Given the description of an element on the screen output the (x, y) to click on. 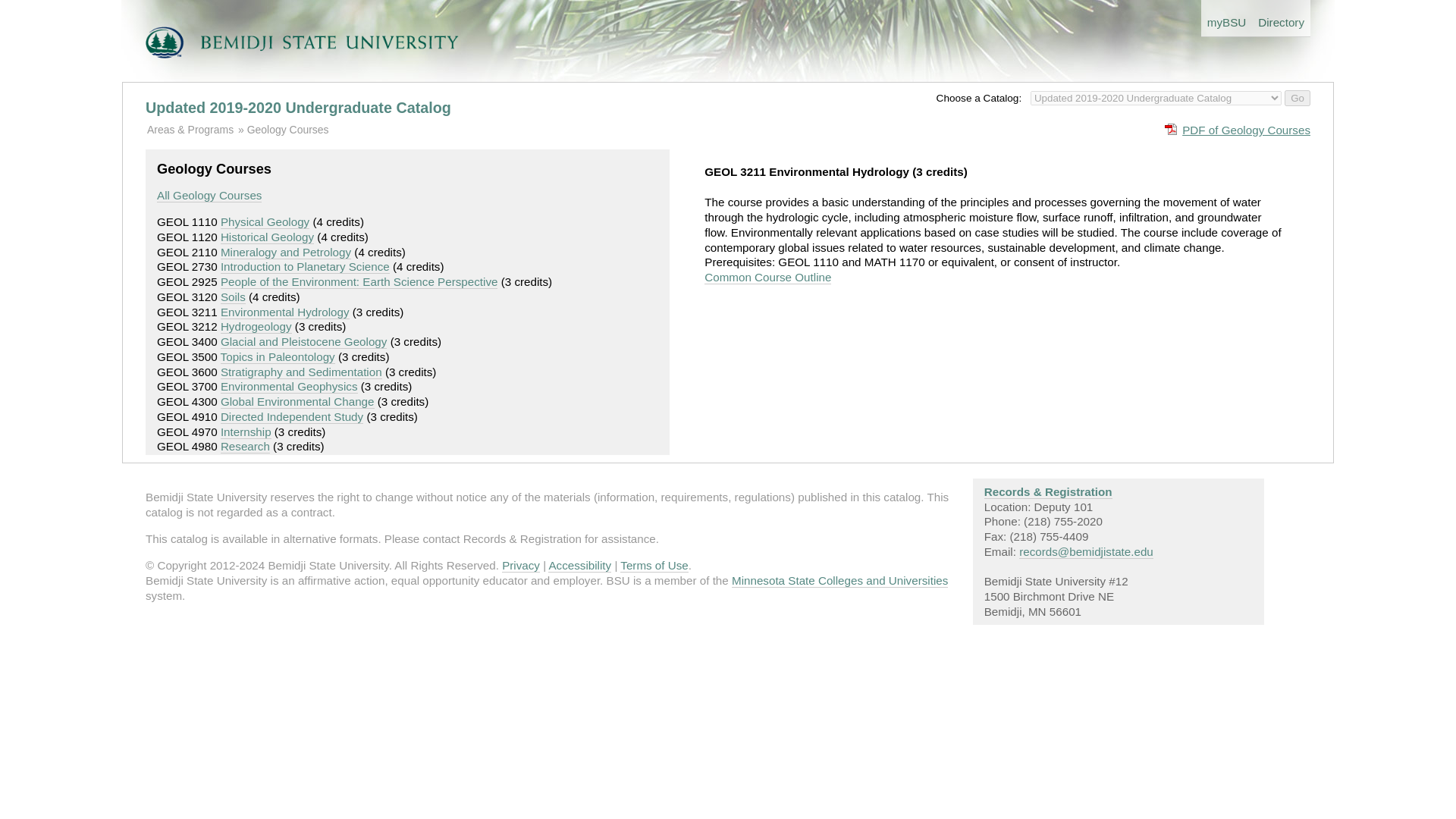
Mineralogy and Petrology (285, 252)
Environmental Geophysics (289, 386)
Environmental Hydrology (285, 312)
All Geology Courses (209, 195)
Glacial and Pleistocene Geology (304, 341)
PDF of Geology Courses (1237, 128)
Minnesota State Colleges and Universities (839, 581)
Geology Courses (288, 129)
Physical Geology (264, 222)
Updated 2019-2020 Undergraduate Catalog (298, 107)
